Given the description of an element on the screen output the (x, y) to click on. 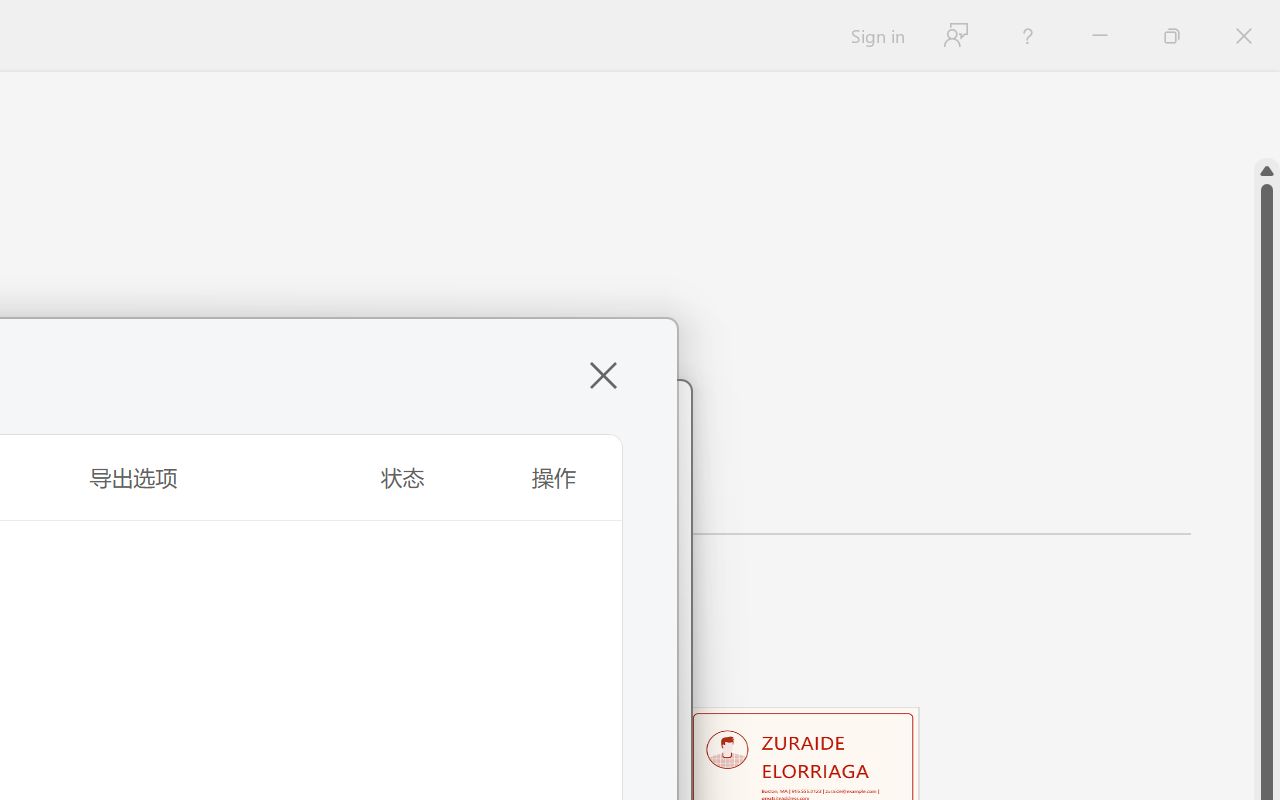
Line up (1267, 171)
